Given the description of an element on the screen output the (x, y) to click on. 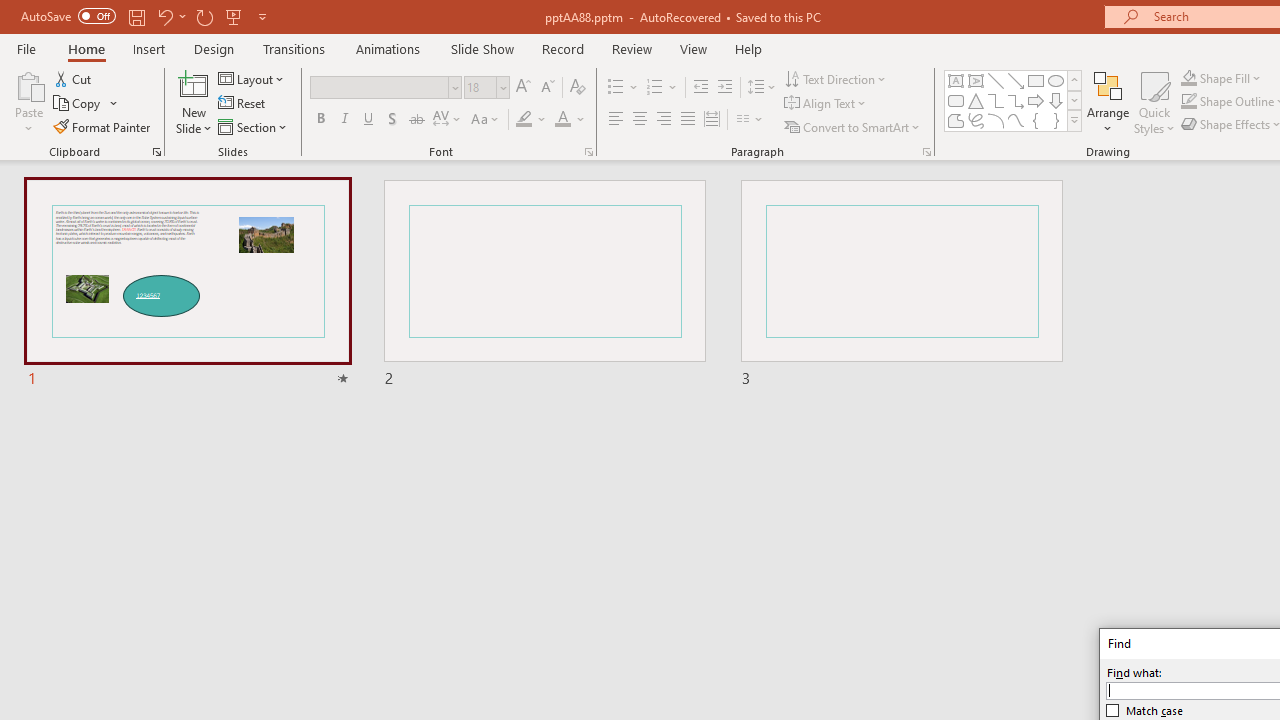
Shape Fill Aqua, Accent 2 (1188, 78)
